Given the description of an element on the screen output the (x, y) to click on. 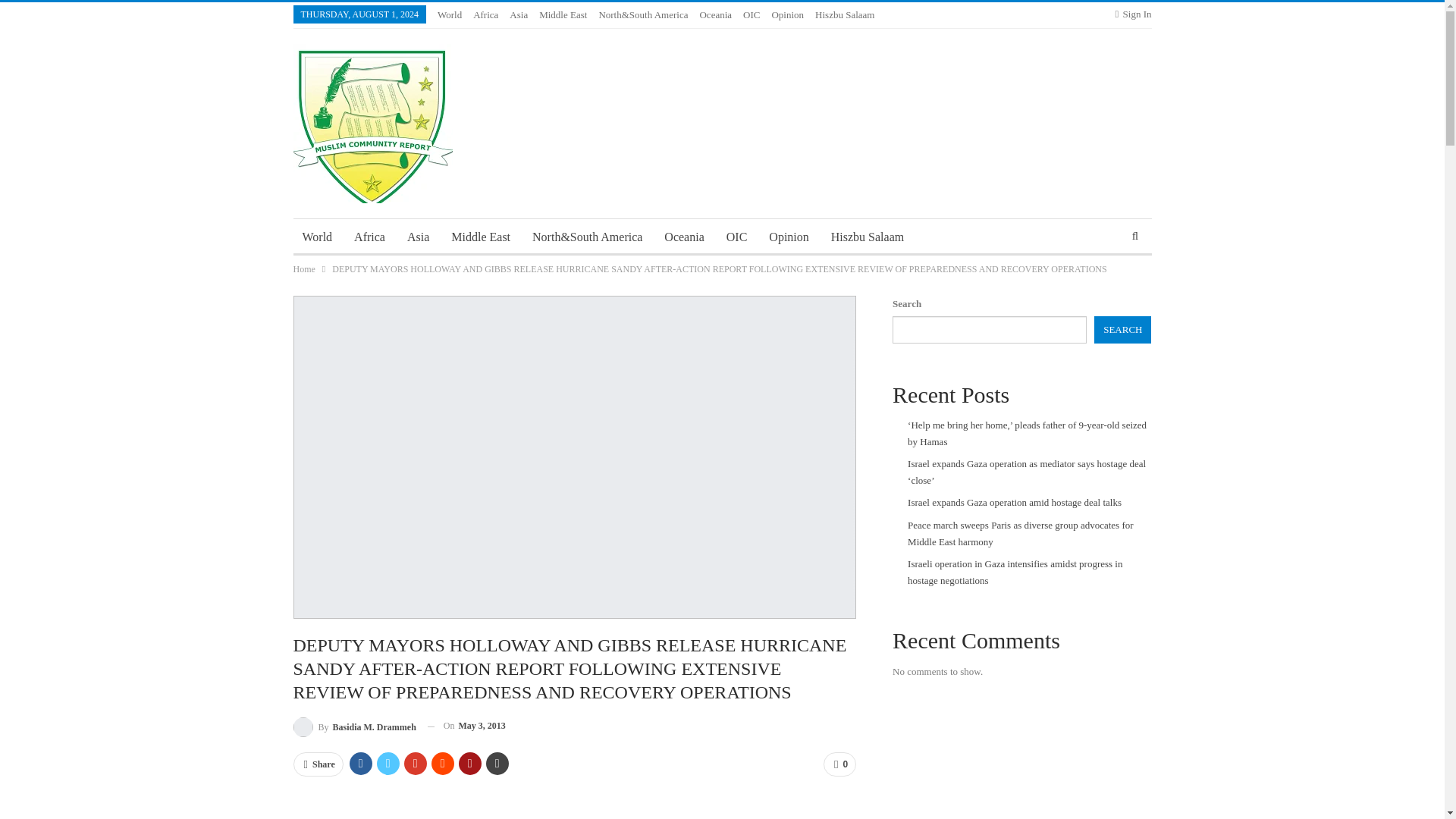
Sign In (1133, 13)
Asia (417, 237)
Opinion (788, 237)
Asia (518, 14)
Africa (485, 14)
OIC (751, 14)
Hiszbu Salaam (867, 237)
Hiszbu Salaam (845, 14)
Oceania (715, 14)
World (316, 237)
0 (840, 764)
Oceania (684, 237)
Africa (369, 237)
Middle East (562, 14)
By Basidia M. Drammeh (353, 725)
